Given the description of an element on the screen output the (x, y) to click on. 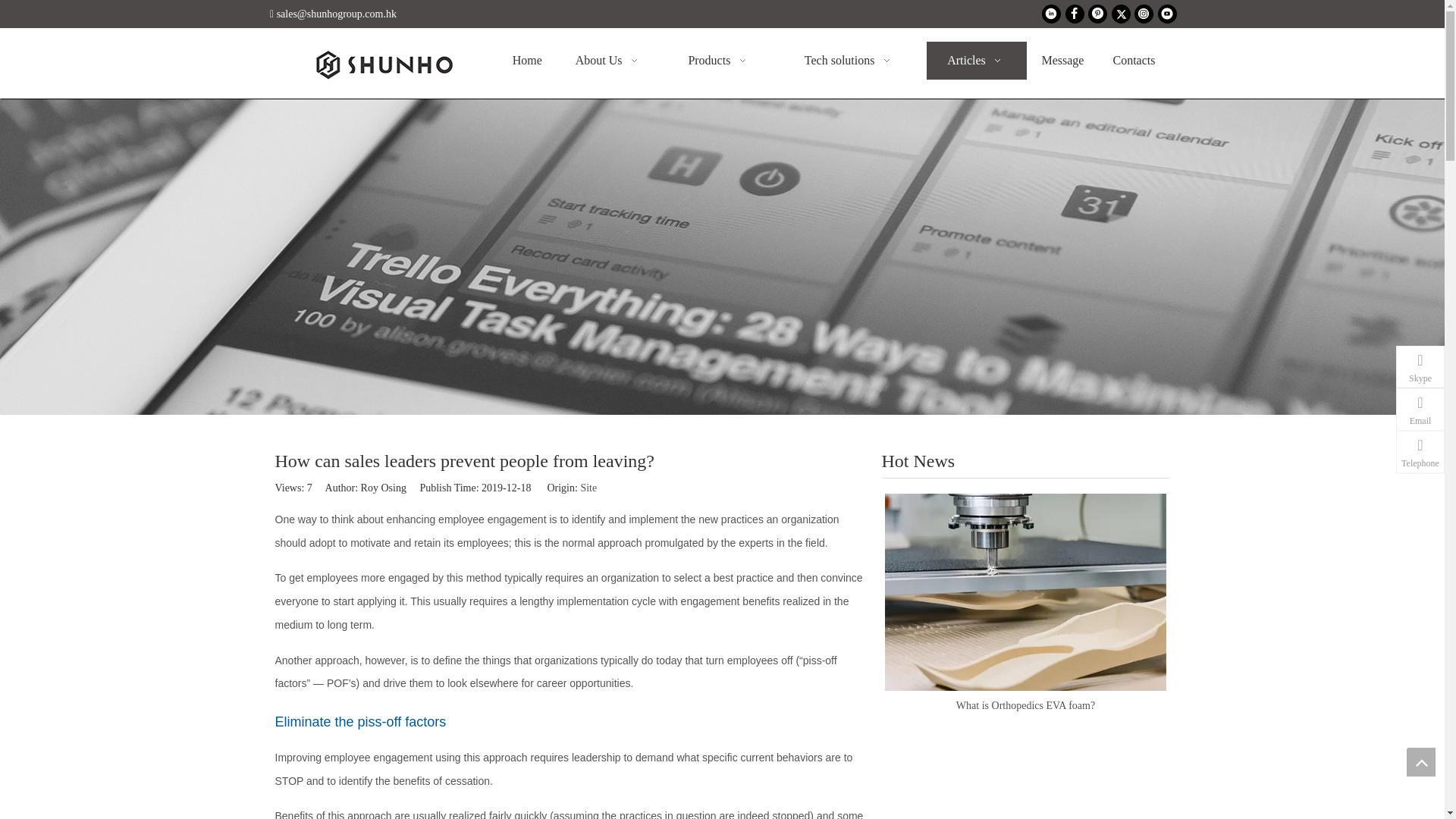
Twitter (1121, 13)
Home (526, 60)
Linkedin (1051, 13)
About Us   (608, 60)
Instagram (1143, 13)
Facebook (1073, 13)
What is Orthopedics EVA foam? (1024, 592)
Pinterest (1096, 13)
What is Orthopedics EVA foam? (1024, 705)
Products   (719, 60)
